Given the description of an element on the screen output the (x, y) to click on. 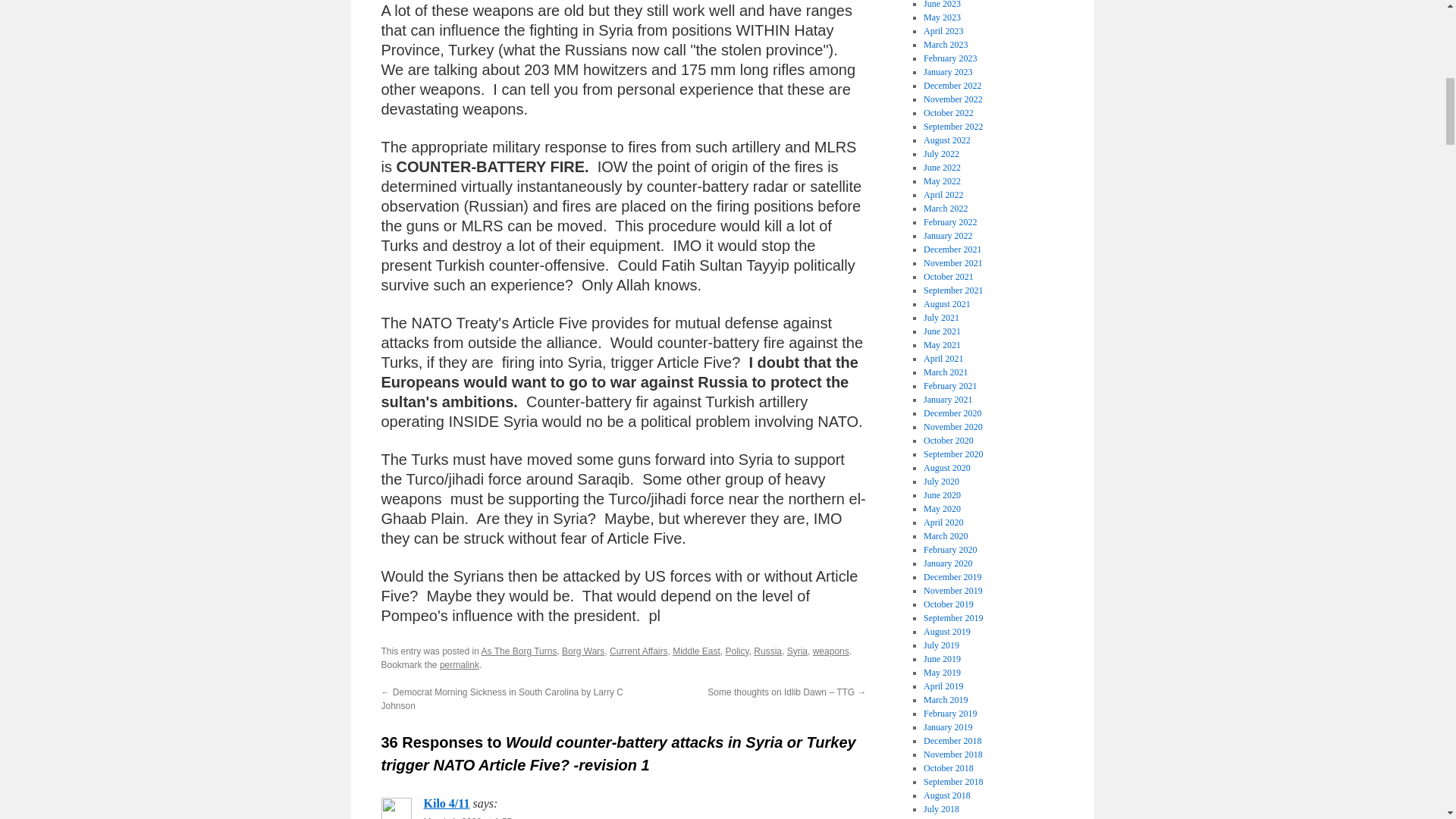
March 1, 2020 at 1:55 pm (475, 817)
weapons (830, 651)
Syria (797, 651)
permalink (459, 665)
As The Borg Turns (519, 651)
Russia (767, 651)
Middle East (696, 651)
Current Affairs (638, 651)
Borg Wars (583, 651)
